Given the description of an element on the screen output the (x, y) to click on. 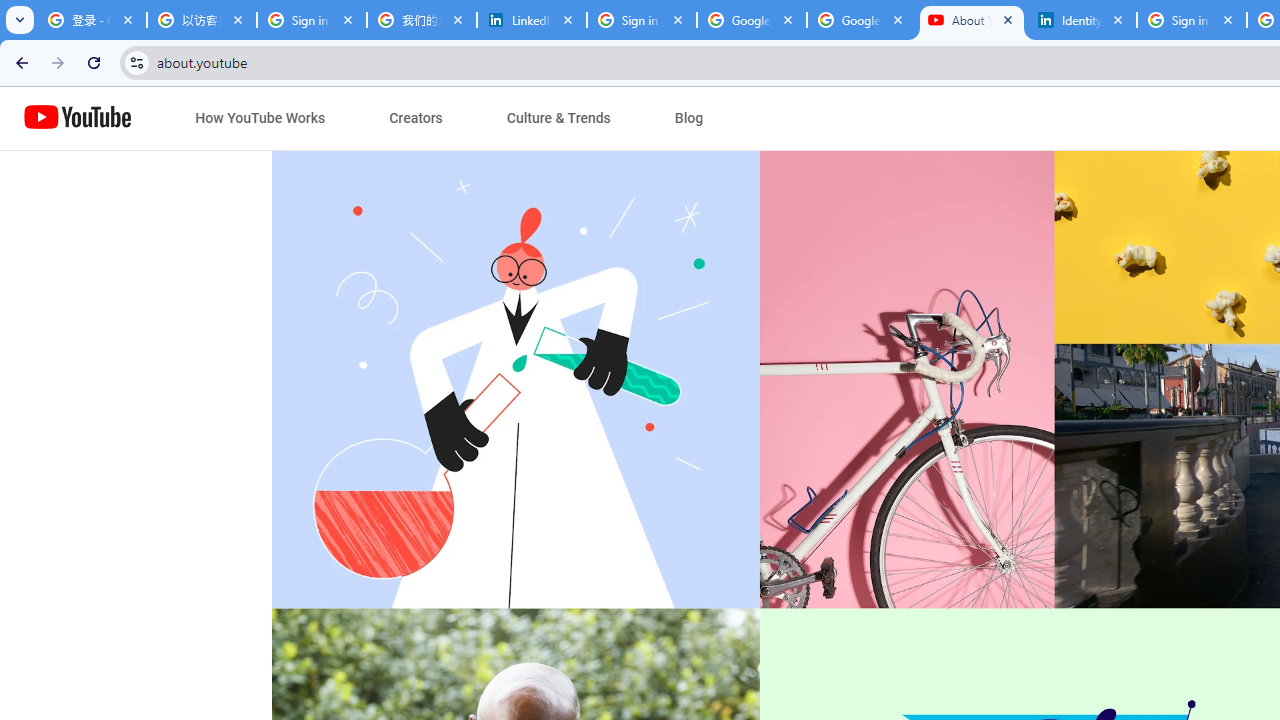
Sign in - Google Accounts (312, 20)
Jump to content (186, 119)
How YouTube Works (260, 118)
Sign in - Google Accounts (1191, 20)
Sign in - Google Accounts (642, 20)
About YouTube - YouTube (971, 20)
Creators (415, 118)
